Given the description of an element on the screen output the (x, y) to click on. 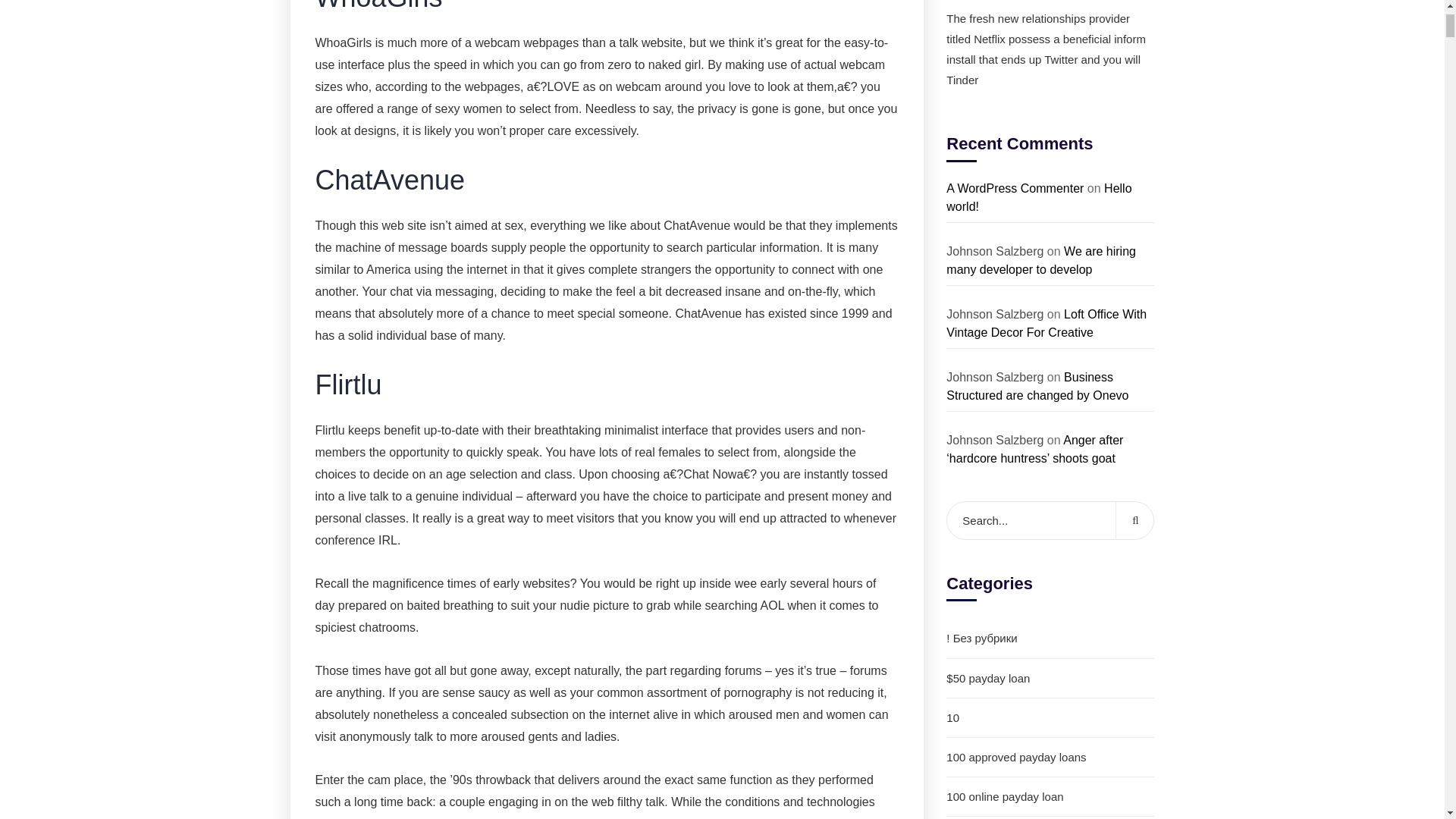
We are hiring many developer to develop (1040, 260)
Loft Office With Vintage Decor For Creative (1046, 323)
100 payday loan (1050, 817)
Hello world! (1038, 196)
A WordPress Commenter (1014, 187)
10 (1050, 717)
Business Structured are changed by Onevo (1037, 386)
100 approved payday loans (1050, 757)
100 online payday loan (1050, 796)
